Given the description of an element on the screen output the (x, y) to click on. 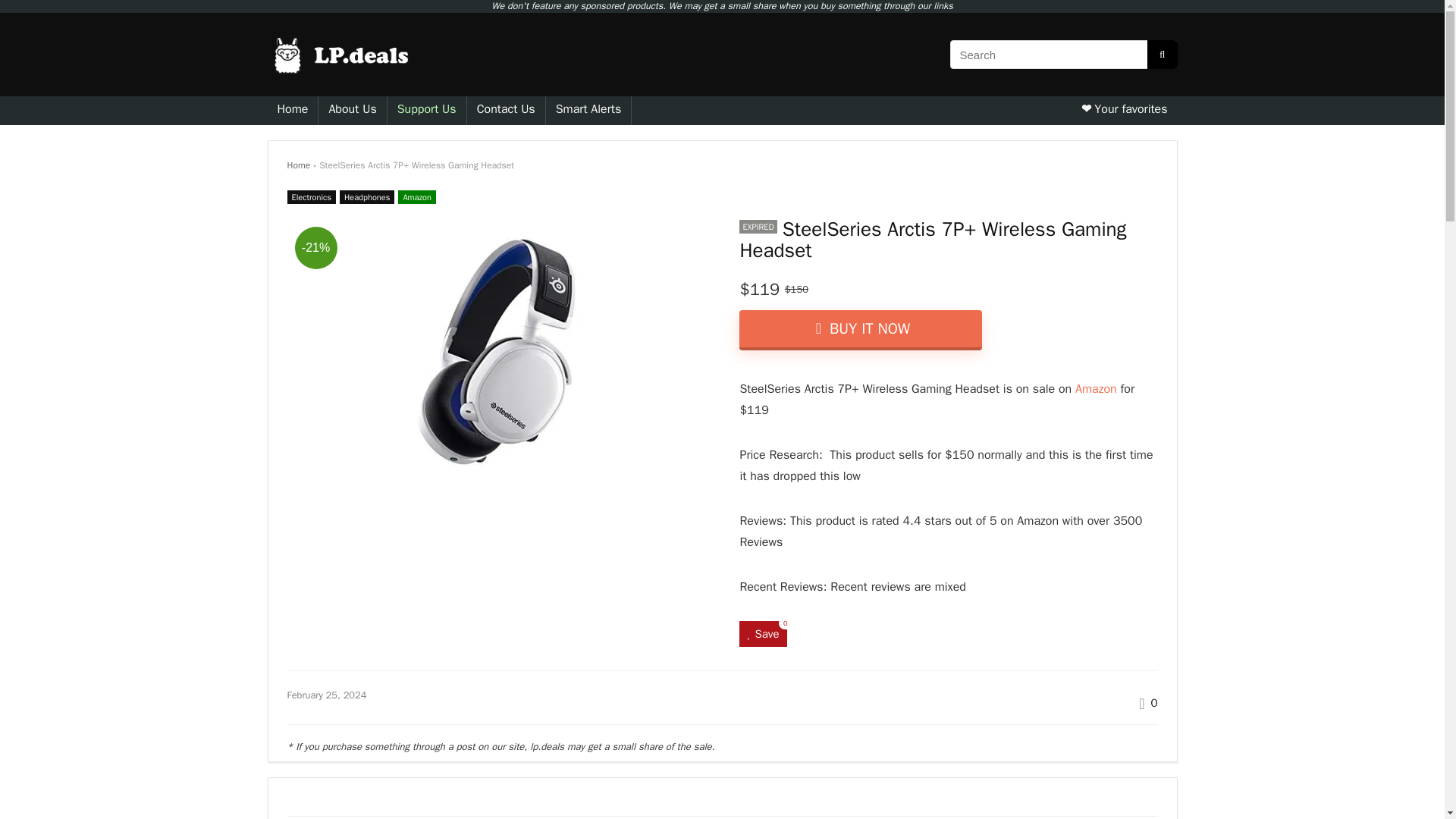
Support Us (426, 110)
About Us (351, 110)
Home (291, 110)
View all posts in Headphones (366, 196)
BUY IT NOW (860, 330)
Headphones (366, 196)
Amazon (1095, 388)
View all posts in Amazon (416, 196)
Contact Us (505, 110)
Home (298, 164)
